Given the description of an element on the screen output the (x, y) to click on. 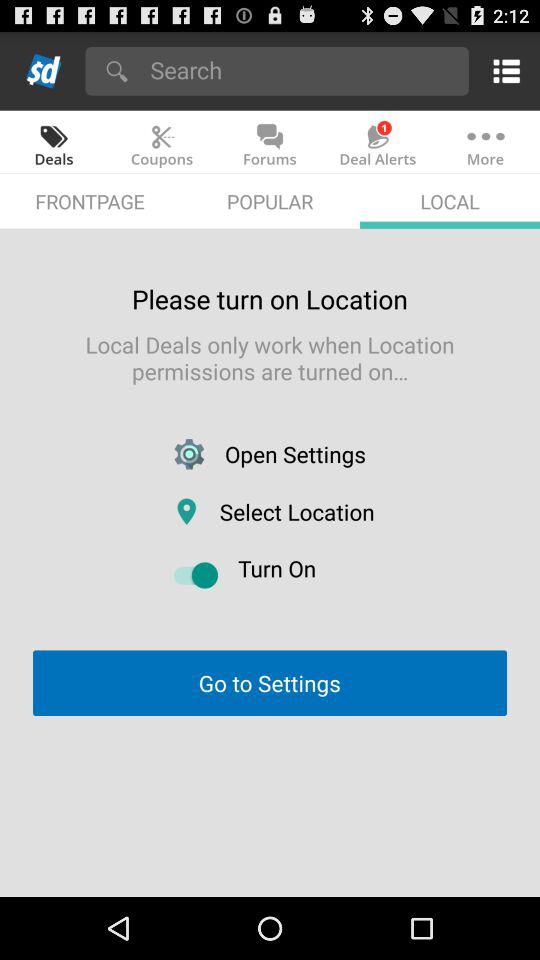
choose go to settings at the bottom (269, 682)
